Given the description of an element on the screen output the (x, y) to click on. 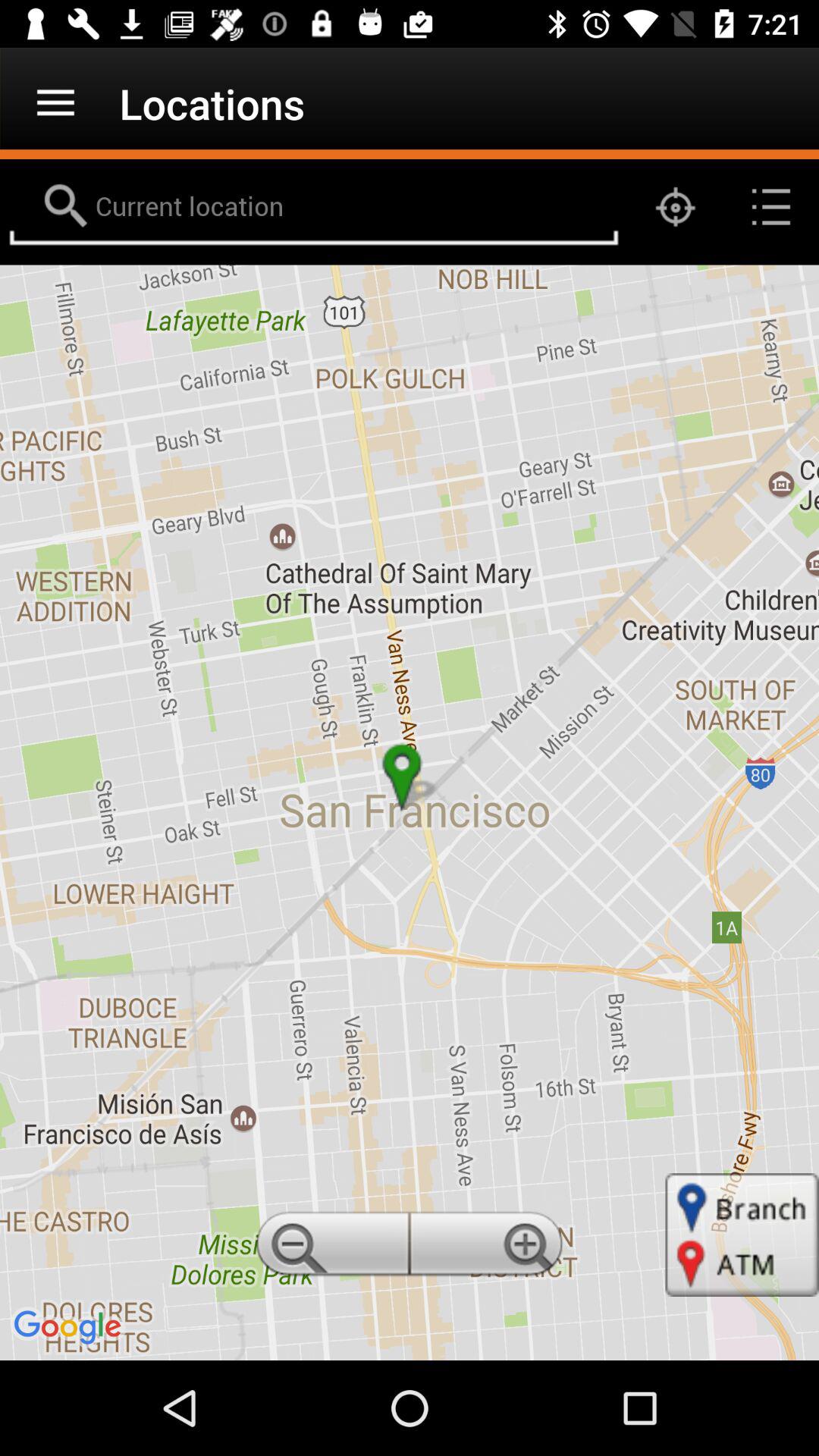
click the icon to the left of the locations (55, 103)
